Given the description of an element on the screen output the (x, y) to click on. 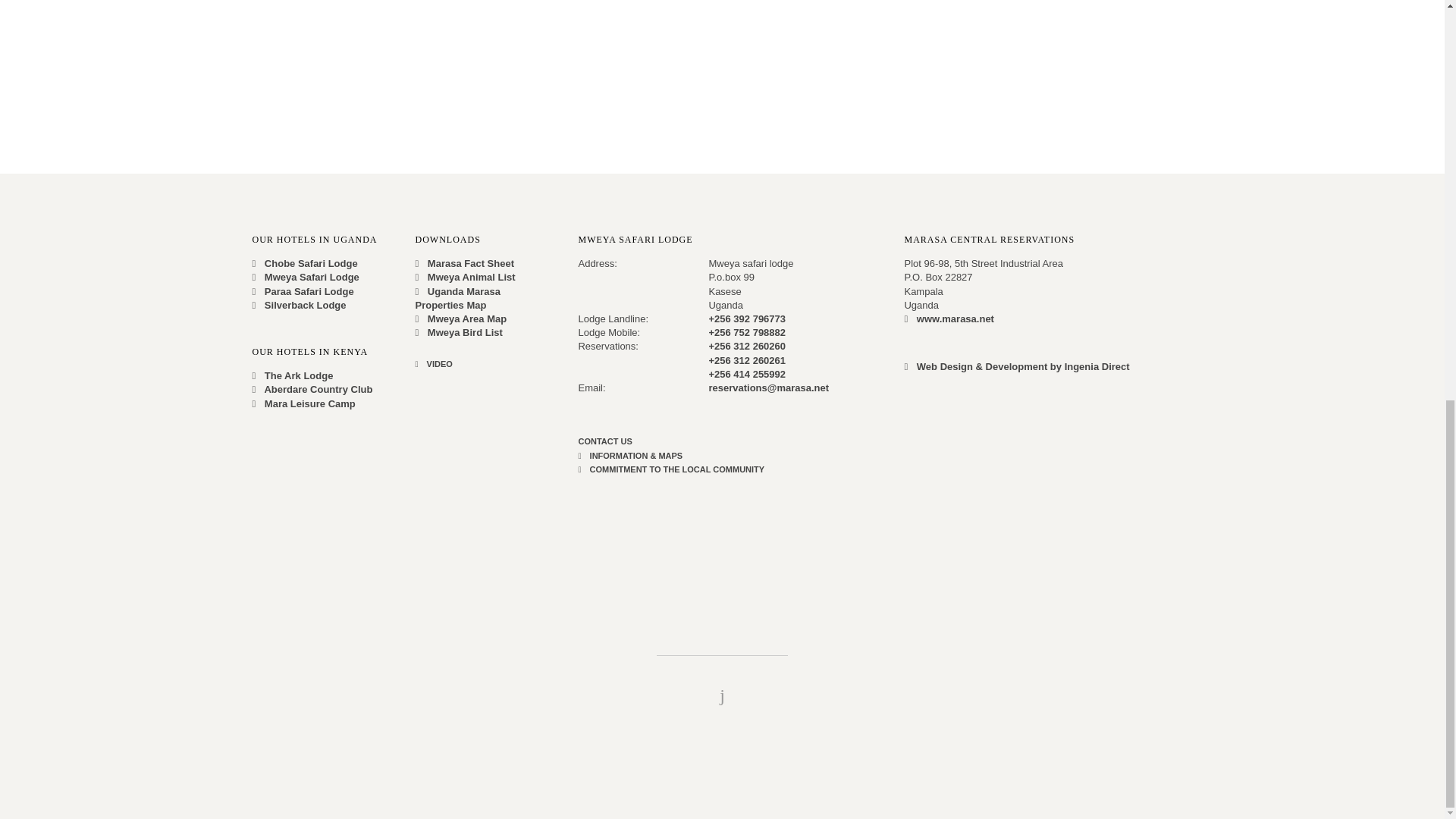
Paraa Safari Lodge (302, 291)
Mweya Safari Lodge (304, 276)
The Ark Lodge (292, 375)
Chobe Safari Lodge (303, 263)
Marasa Fact Sheet (463, 263)
Silverback Lodge (298, 305)
Aberdare Country Club (311, 389)
Mara Leisure Camp (303, 402)
